Given the description of an element on the screen output the (x, y) to click on. 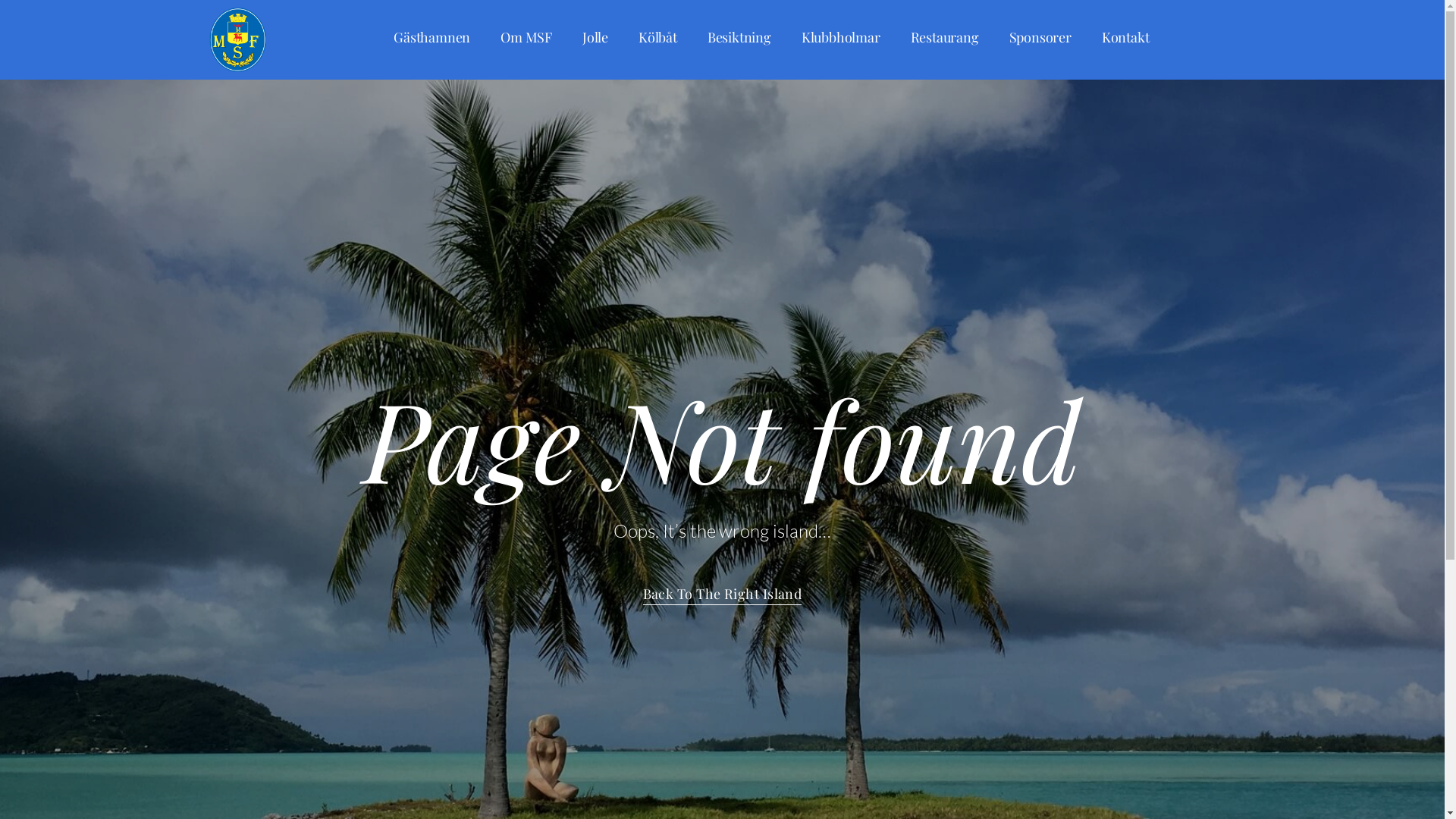
Besiktning Element type: text (739, 36)
Sponsorer Element type: text (1040, 36)
Klubbholmar Element type: text (840, 36)
Back To The Right Island Element type: text (722, 595)
Jolle Element type: text (595, 36)
Om MSF Element type: text (526, 36)
Restaurang Element type: text (944, 36)
Kontakt Element type: text (1125, 36)
